Given the description of an element on the screen output the (x, y) to click on. 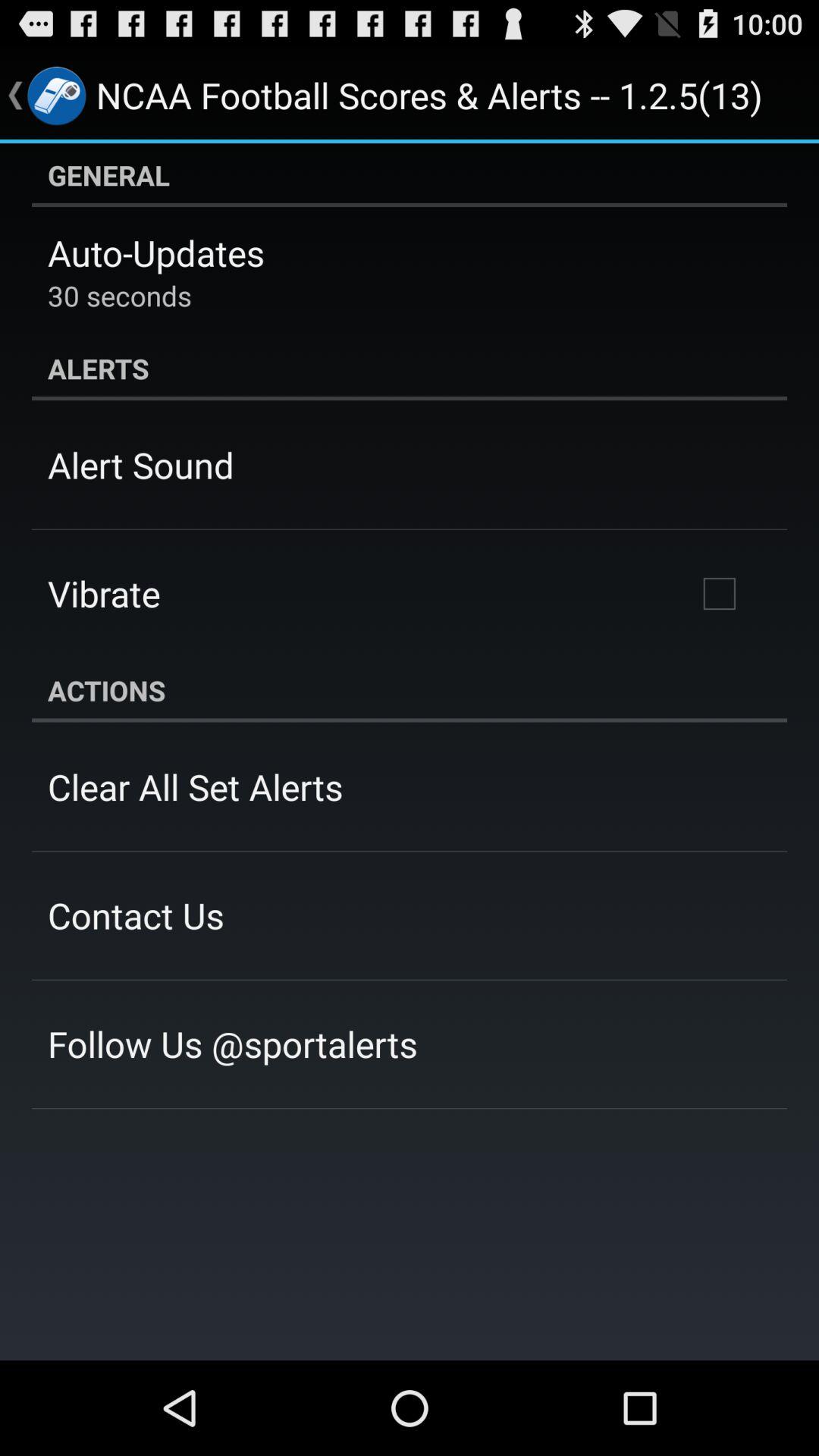
launch item above the actions (719, 593)
